Given the description of an element on the screen output the (x, y) to click on. 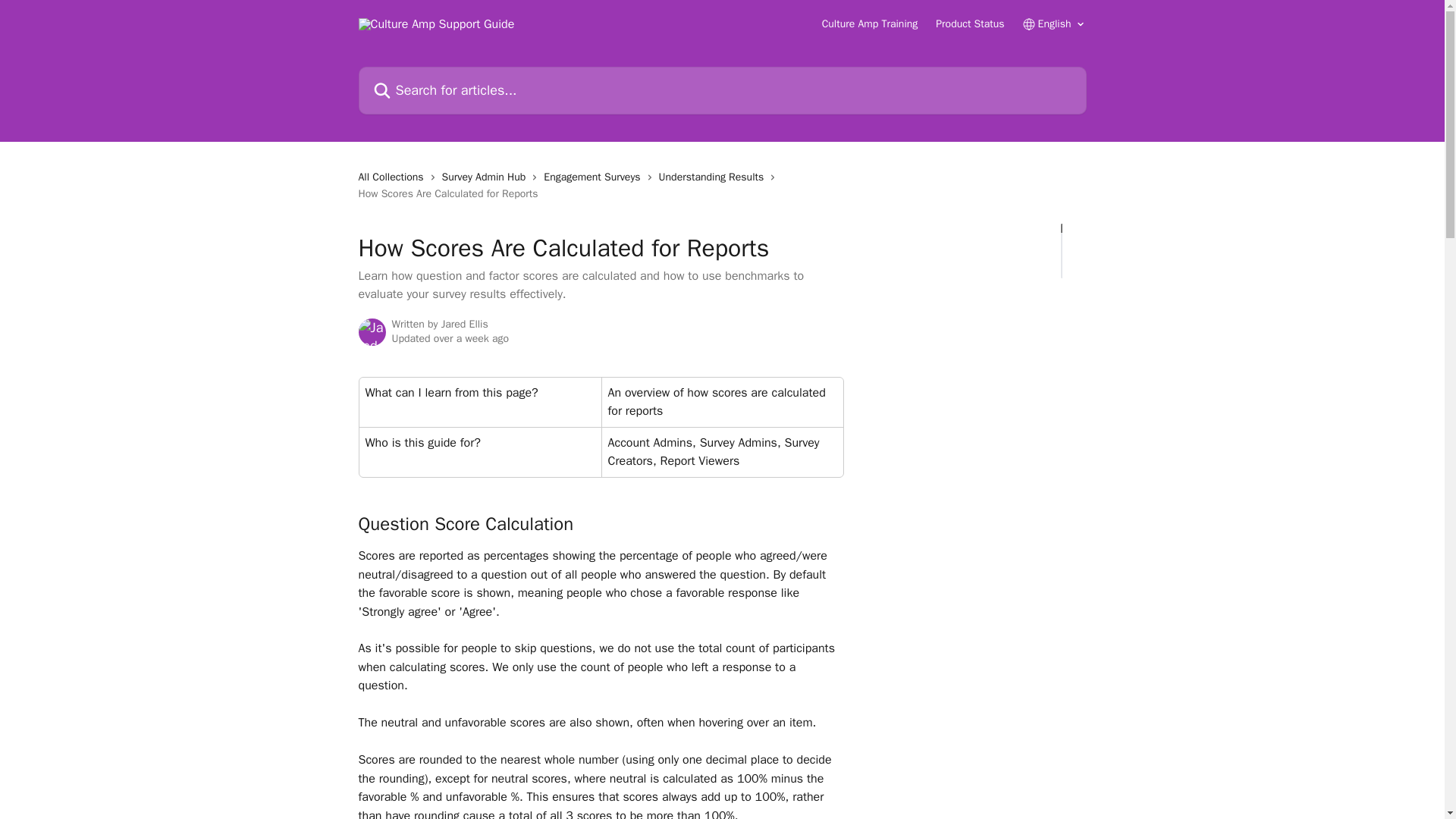
Survey Admin Hub (487, 176)
All Collections (393, 176)
Engagement Surveys (594, 176)
Understanding Results (714, 176)
Product Status (970, 23)
Culture Amp Training (870, 23)
